Given the description of an element on the screen output the (x, y) to click on. 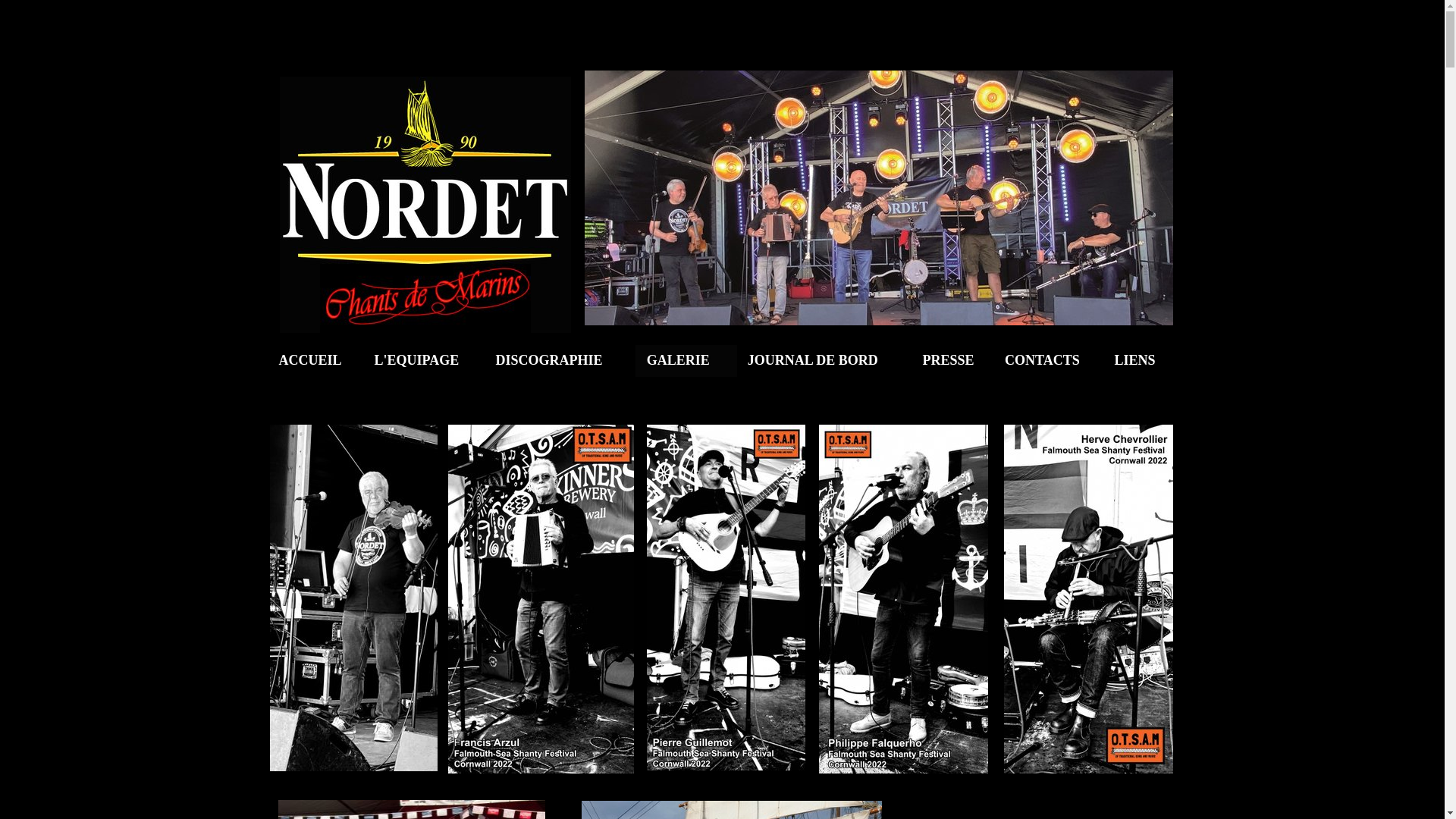
JOURNAL DE BORD Element type: text (825, 359)
L'EQUIPAGE Element type: text (425, 359)
GALERIE Element type: text (685, 359)
CONTACTS Element type: text (1050, 359)
DISCOGRAPHIE Element type: text (559, 359)
PRESSE Element type: text (954, 359)
LIENS Element type: text (1140, 359)
ACCUEIL Element type: text (317, 359)
